Given the description of an element on the screen output the (x, y) to click on. 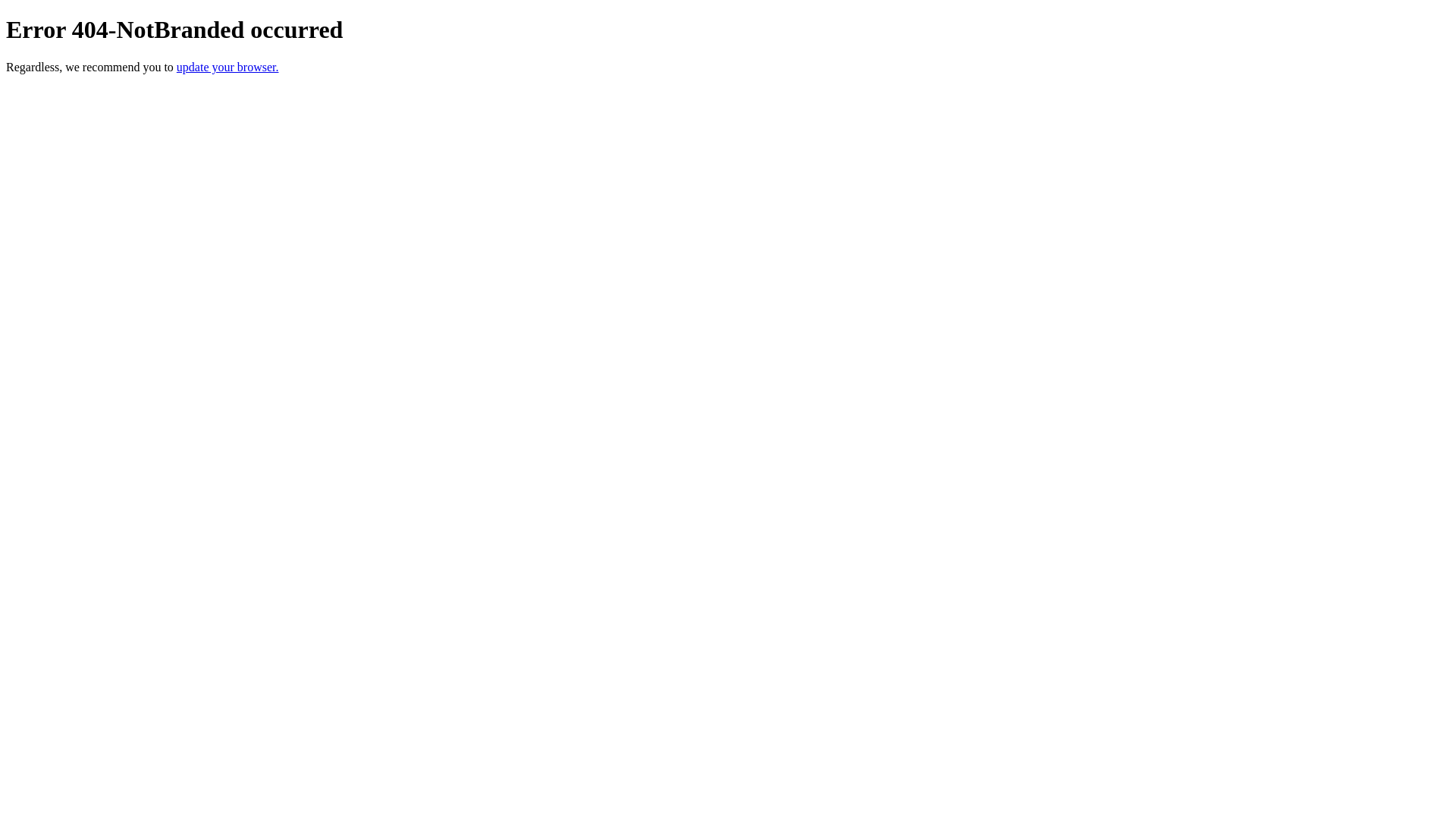
update your browser. Element type: text (227, 66)
